Given the description of an element on the screen output the (x, y) to click on. 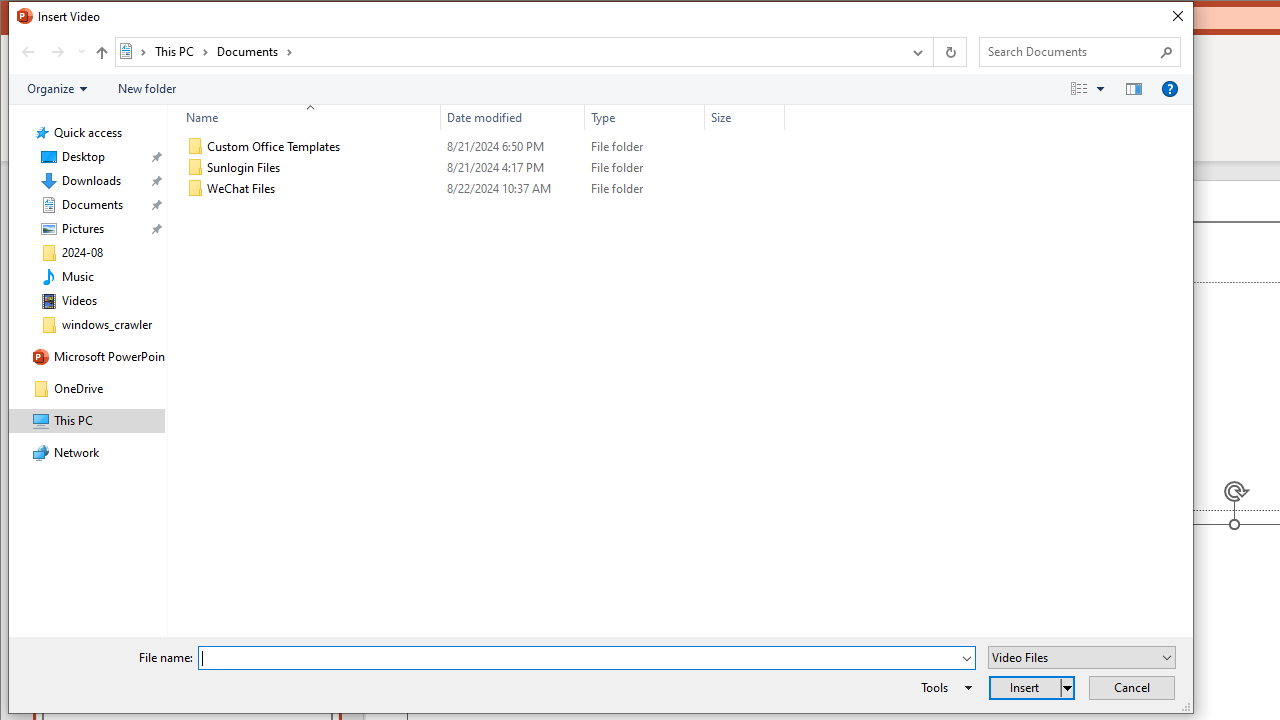
File name: (586, 657)
Address: Documents (507, 51)
Cancel (1132, 688)
Views (1092, 89)
Documents (254, 51)
Name (304, 117)
Size (744, 188)
Filter dropdown (776, 117)
Files of type: (1082, 656)
Recent locations (80, 51)
